Given the description of an element on the screen output the (x, y) to click on. 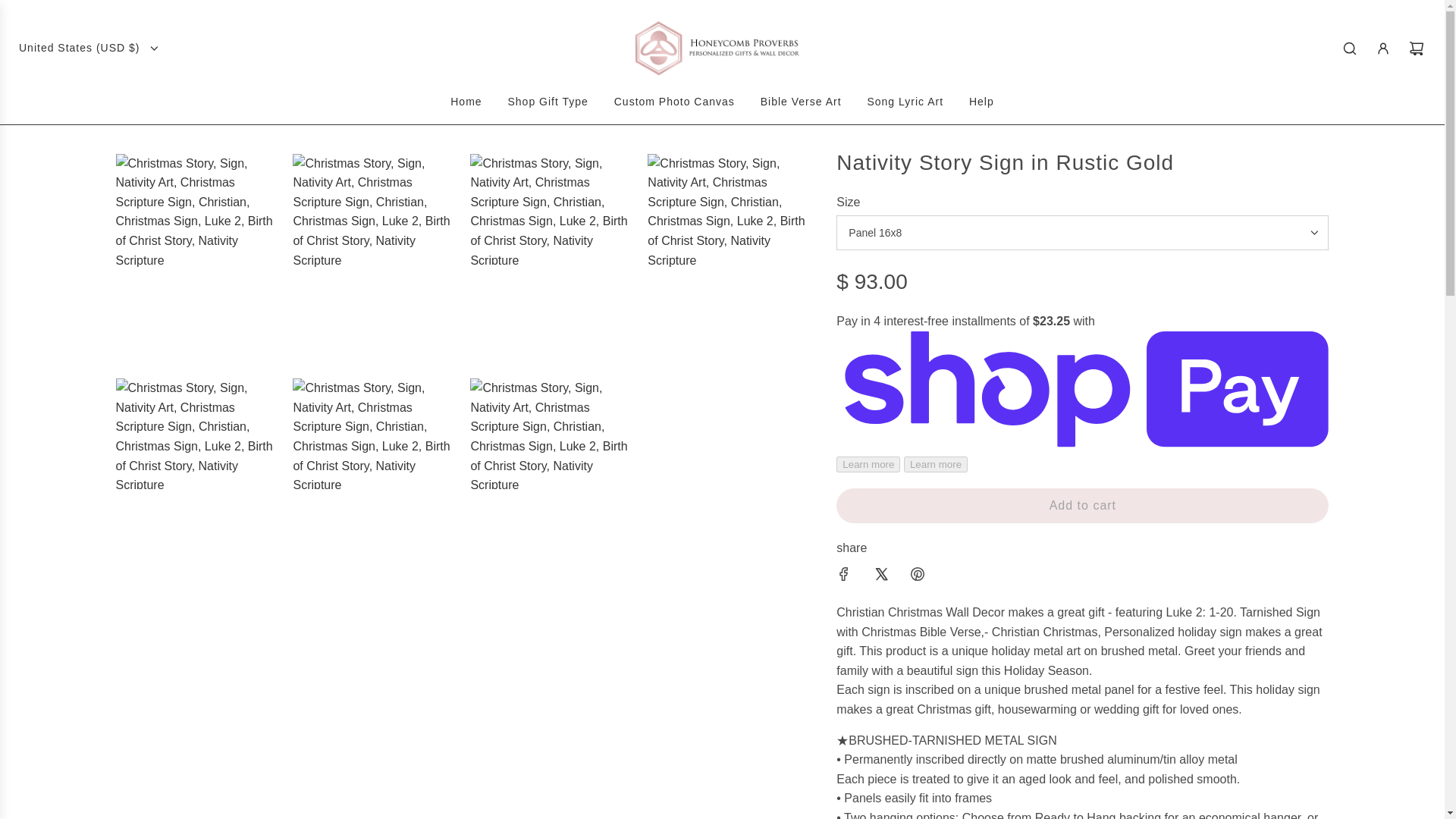
Home (466, 101)
Song Lyric Art (905, 101)
Bible Verse Art (801, 101)
Shop Gift Type (547, 101)
Custom Photo Canvas (673, 101)
